Given the description of an element on the screen output the (x, y) to click on. 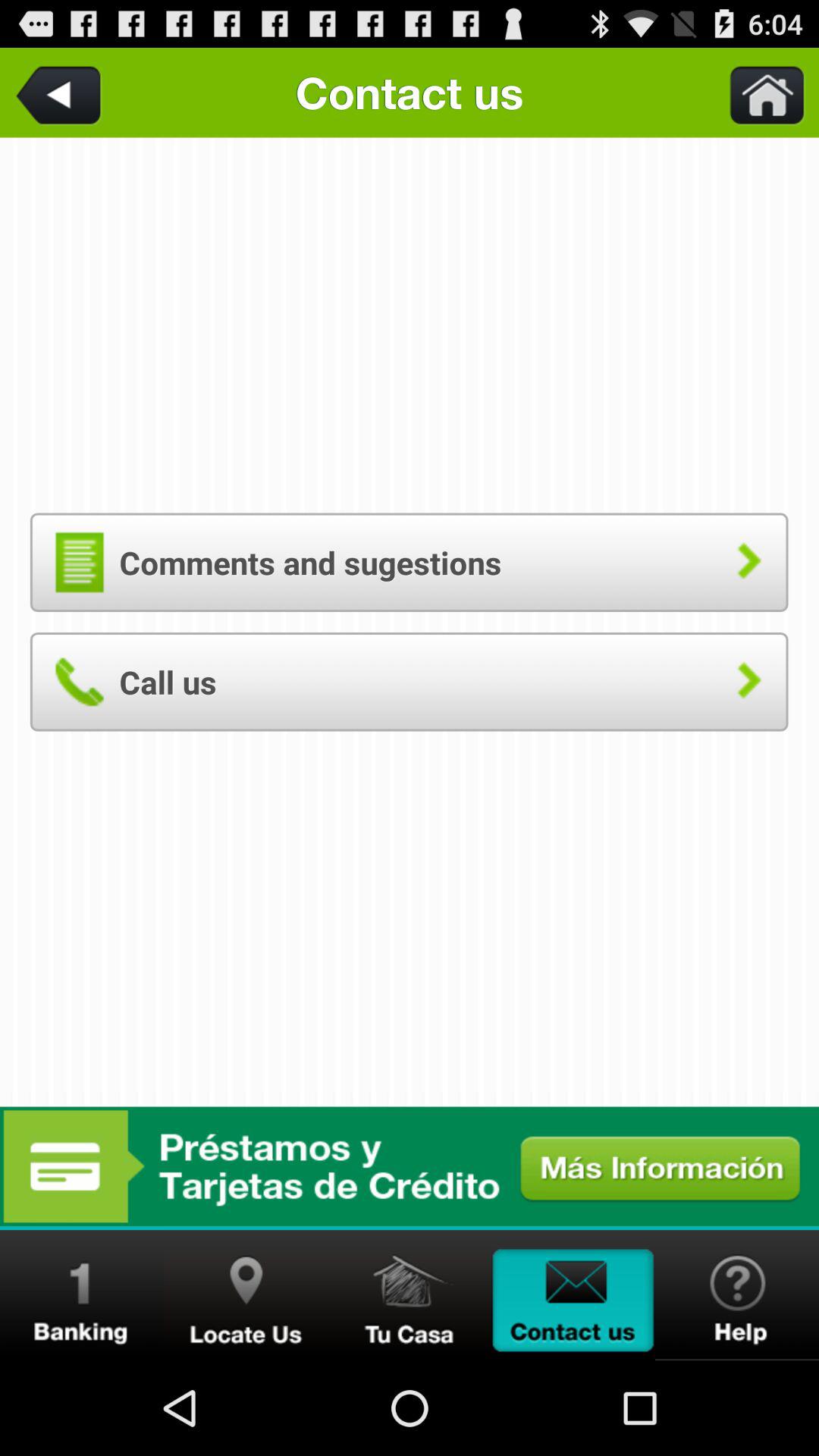
press the comments and sugestions item (409, 562)
